Given the description of an element on the screen output the (x, y) to click on. 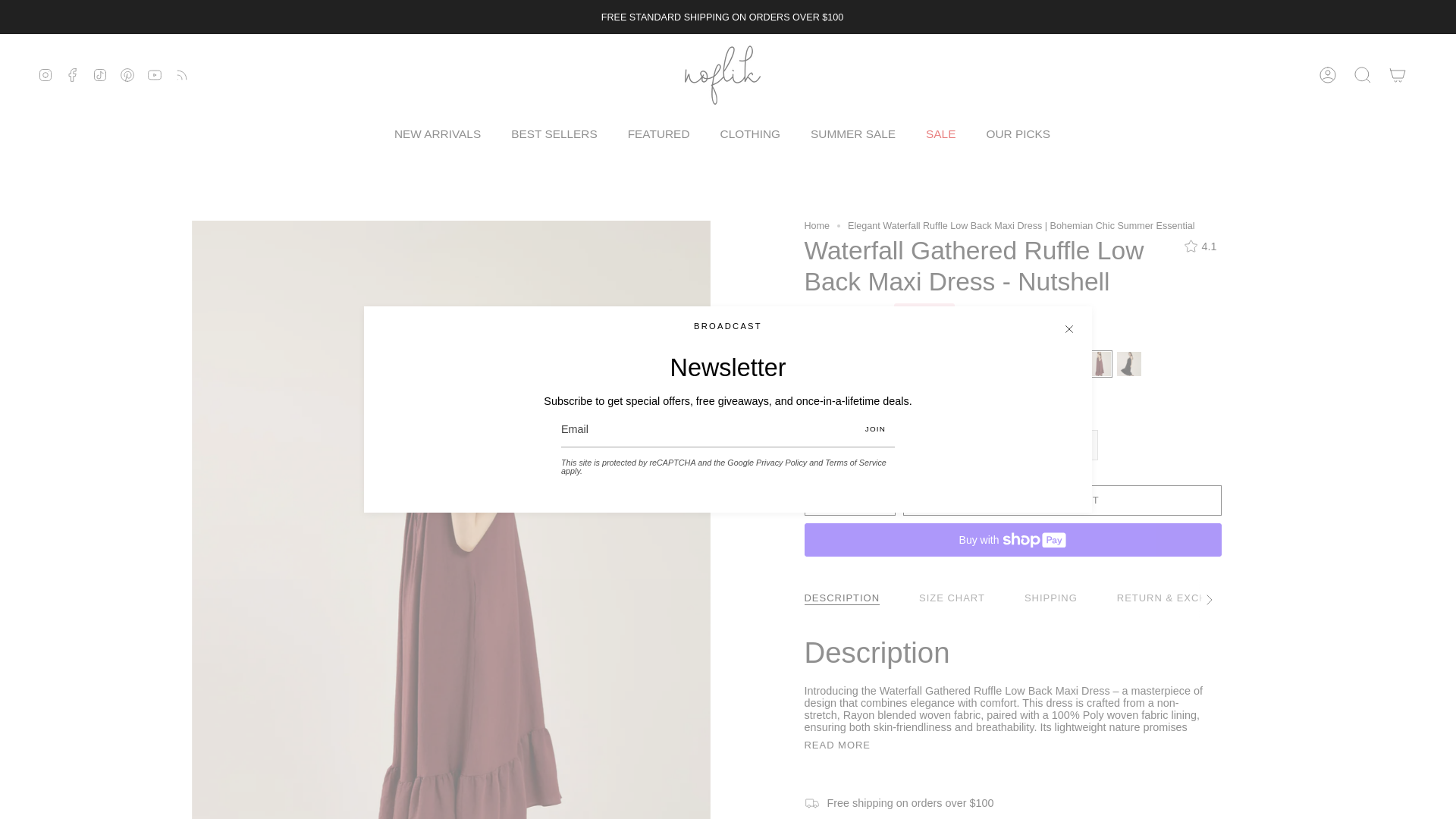
BEST SELLERS (553, 134)
NEW ARRIVALS (437, 134)
CLOTHING (750, 134)
FEATURED (658, 134)
